Given the description of an element on the screen output the (x, y) to click on. 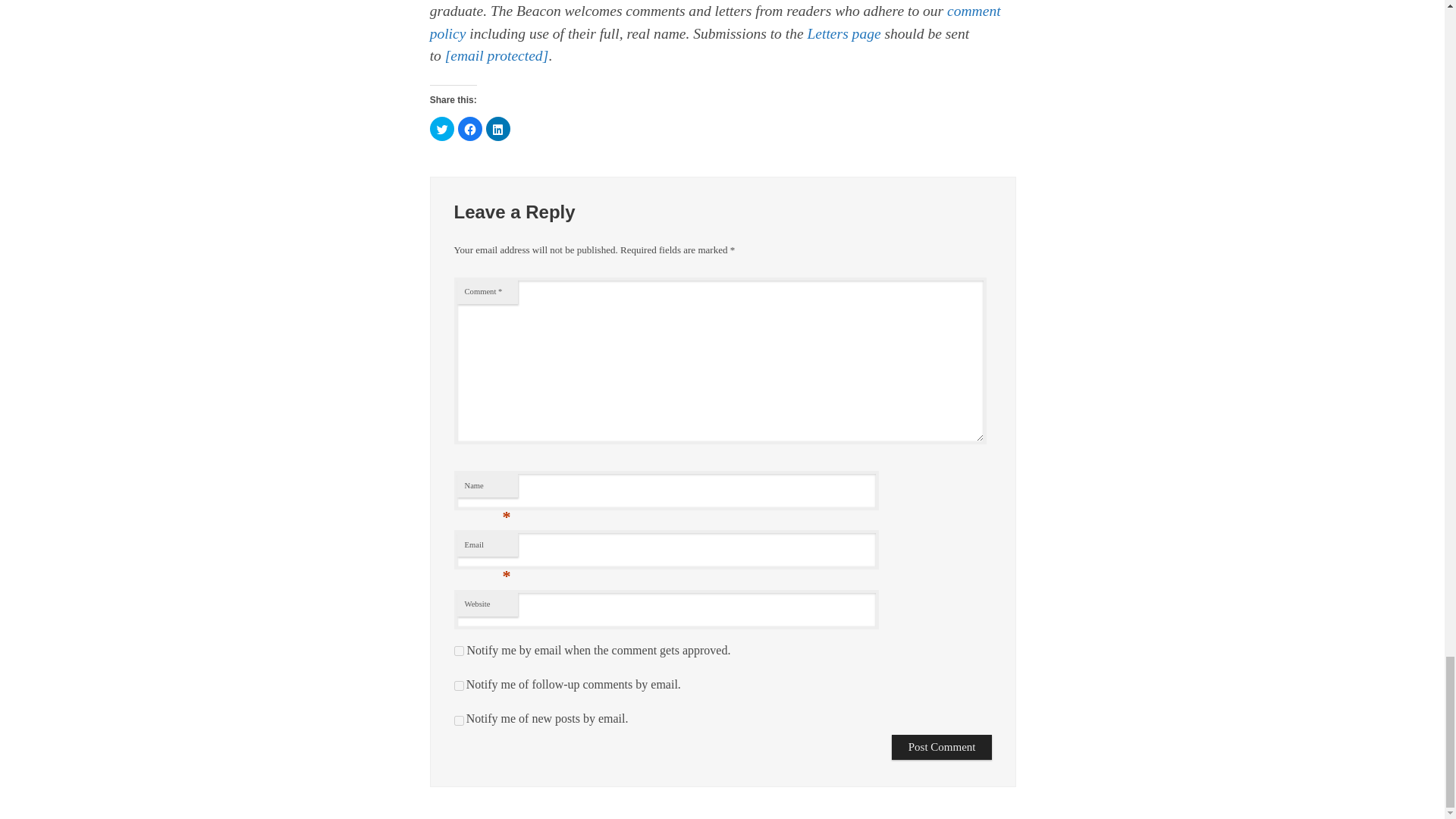
Click to share on Facebook (469, 128)
subscribe (457, 685)
1 (457, 651)
Post Comment (941, 747)
subscribe (457, 719)
Click to share on Twitter (441, 128)
Click to share on LinkedIn (498, 128)
